Given the description of an element on the screen output the (x, y) to click on. 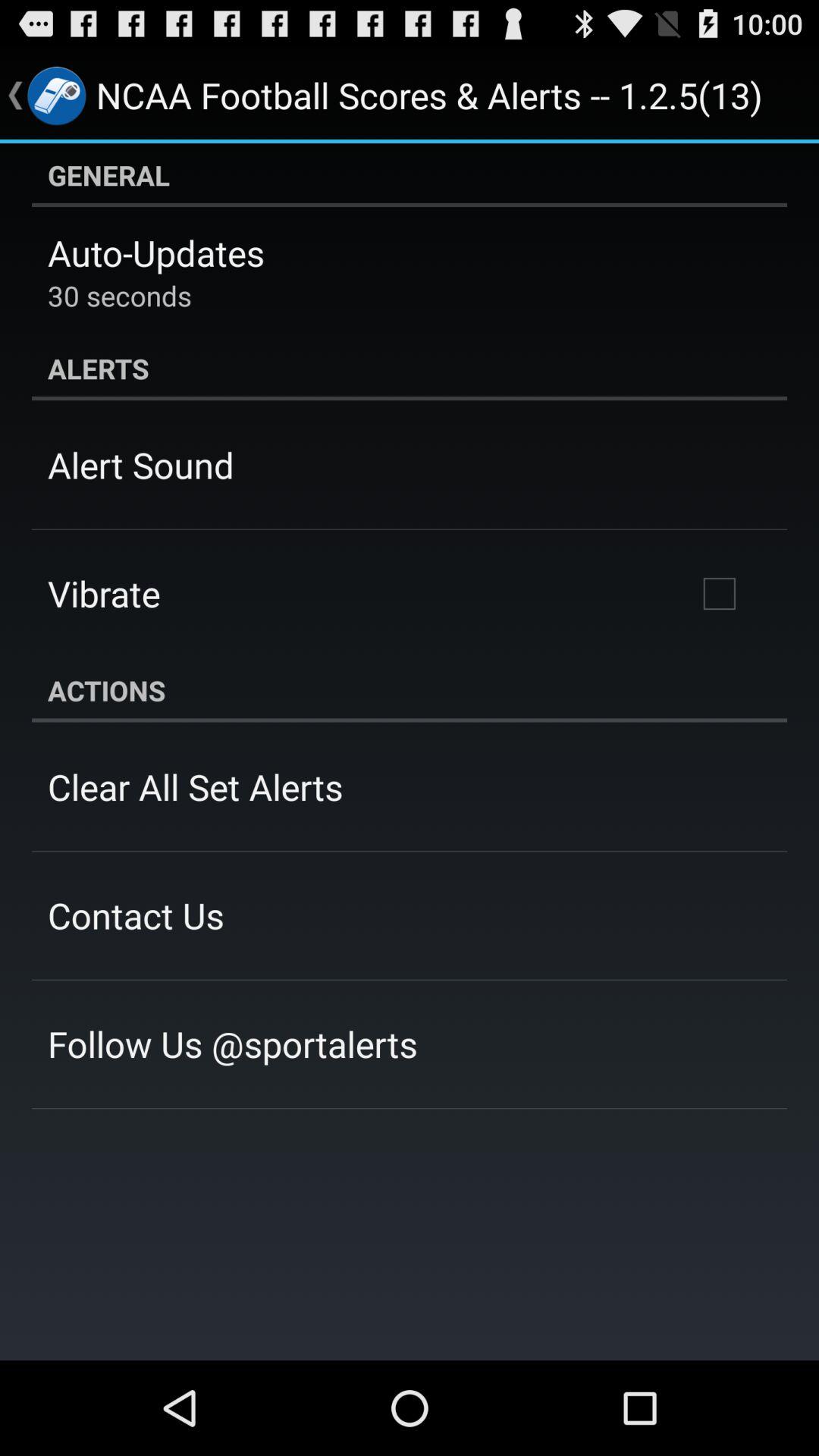
flip to contact us icon (135, 915)
